Given the description of an element on the screen output the (x, y) to click on. 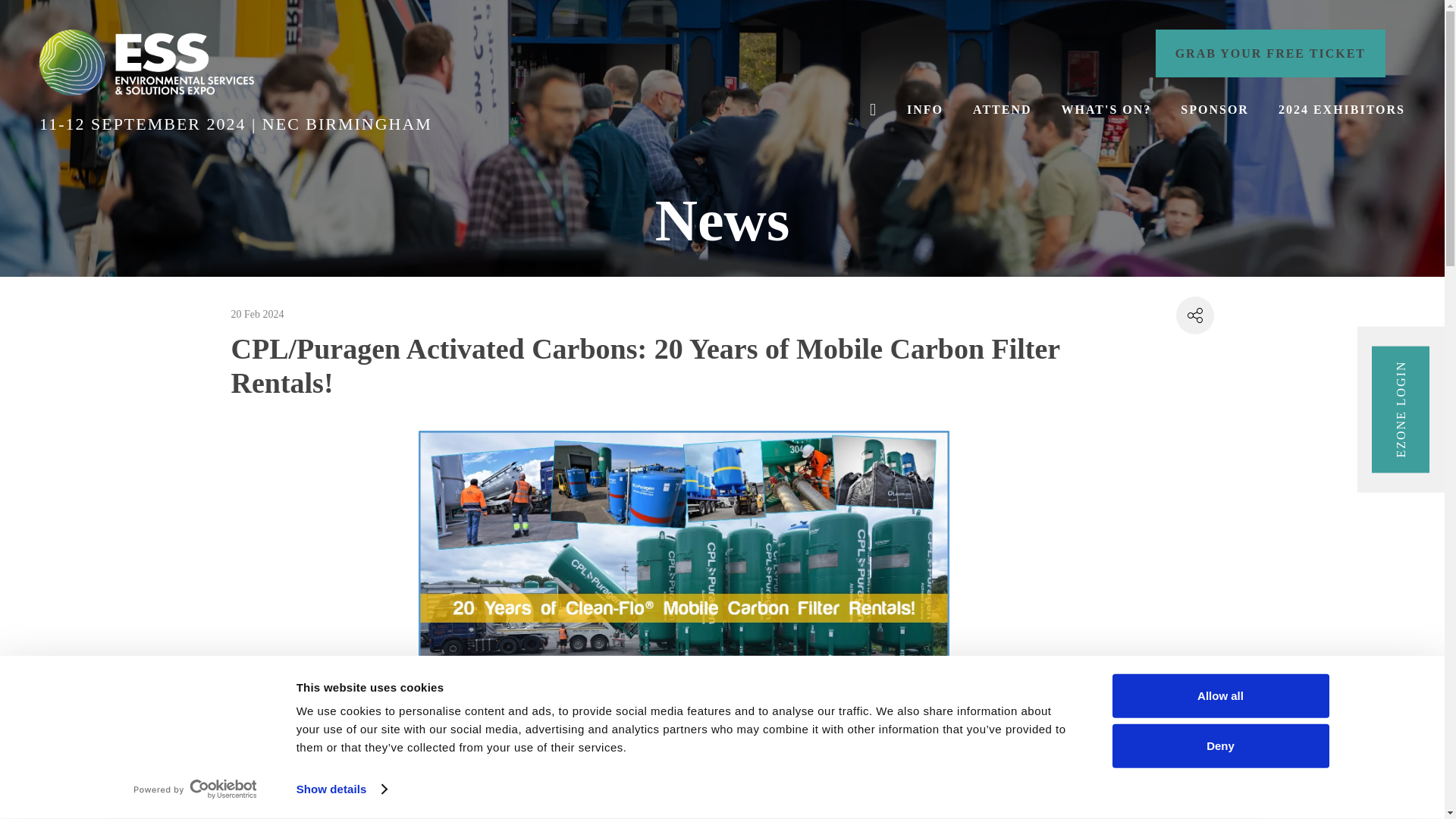
Show details (341, 789)
